Given the description of an element on the screen output the (x, y) to click on. 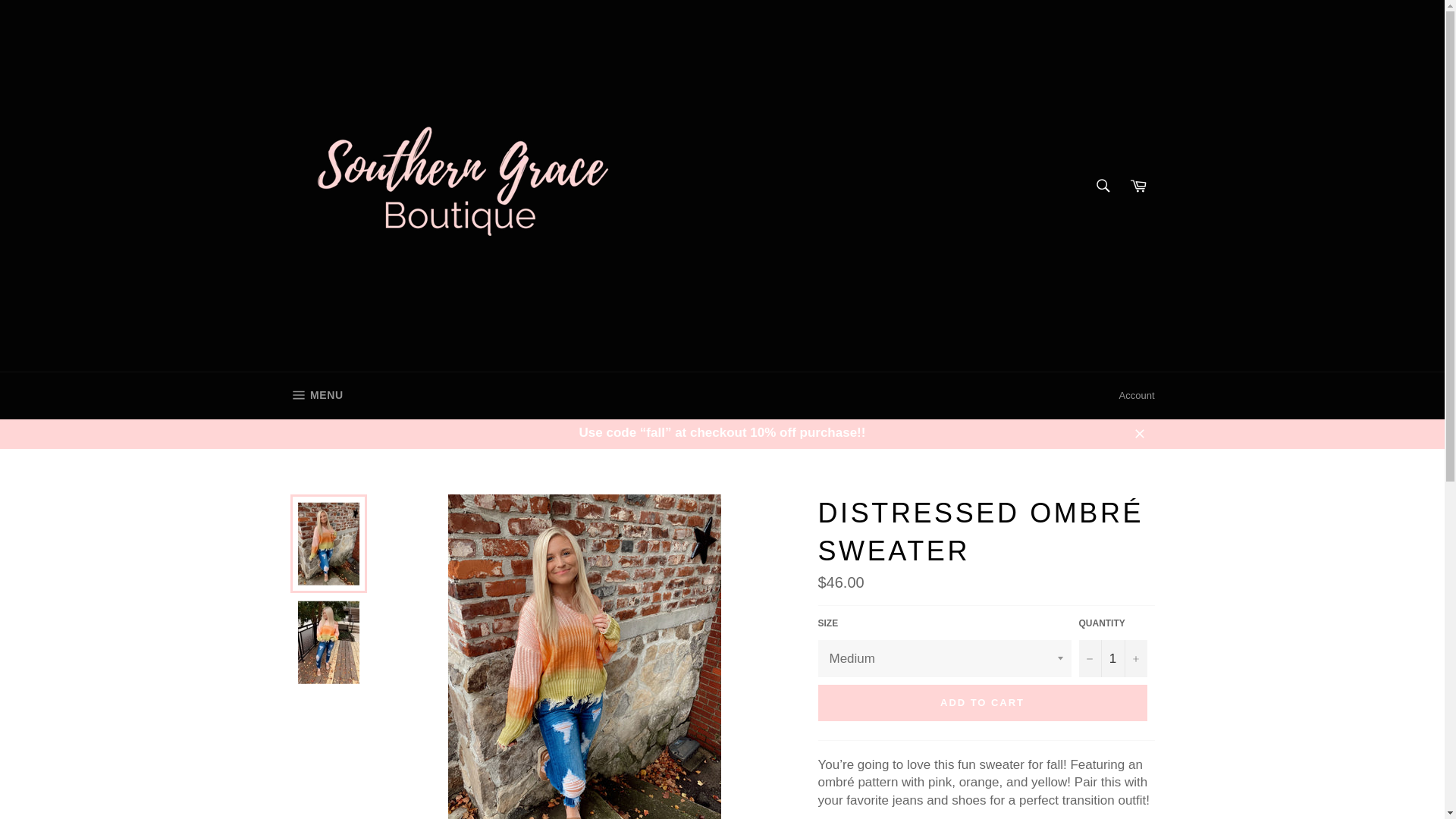
1 (1112, 658)
Search (1103, 185)
Cart (316, 395)
